Given the description of an element on the screen output the (x, y) to click on. 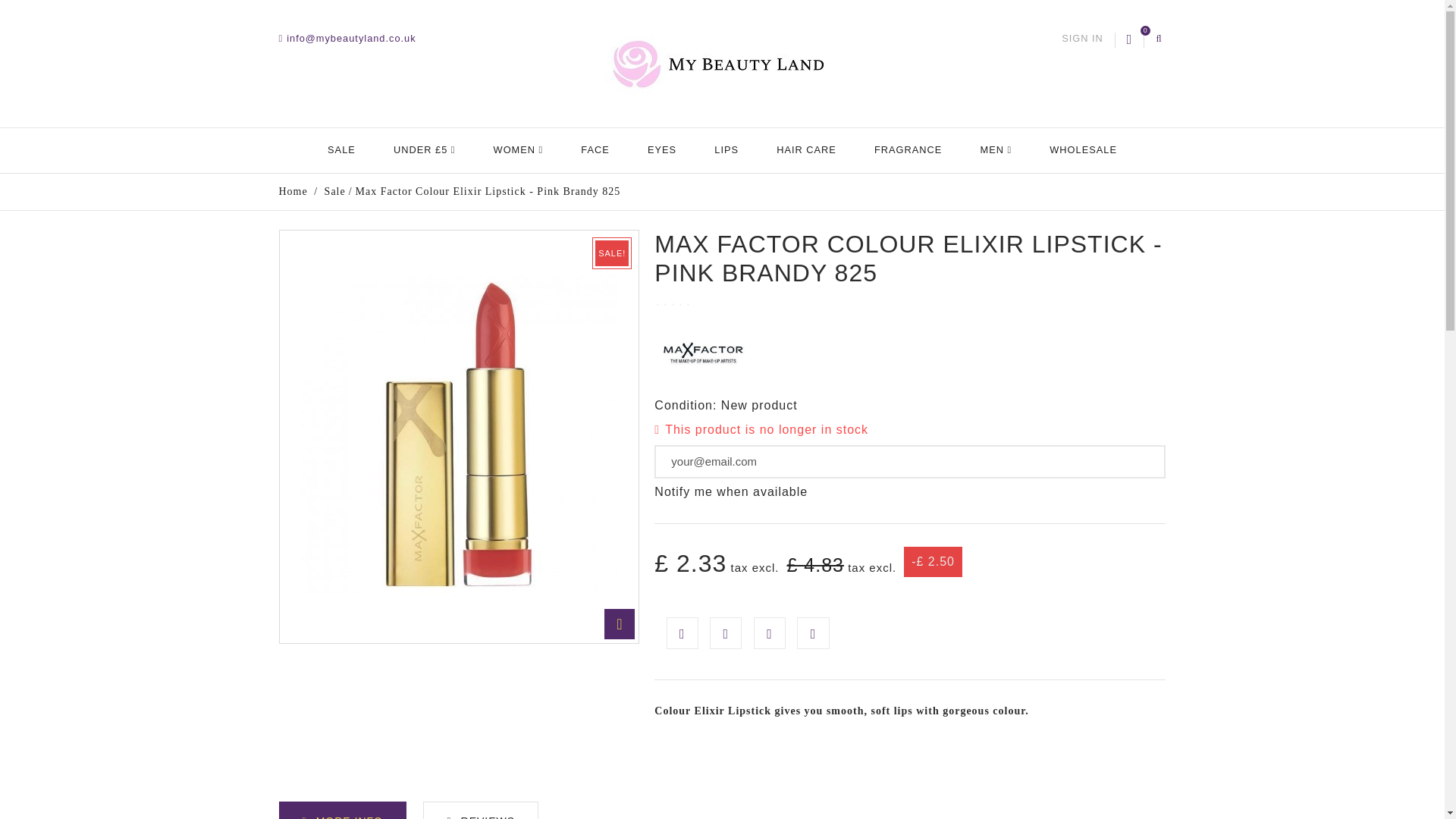
Women (518, 149)
Sale (341, 149)
LIPS (726, 149)
FRAGRANCE (908, 149)
Notify me when available (730, 491)
Sale (335, 191)
SIGN IN (1082, 38)
WHOLESALE (1082, 149)
Contact our expert support team! (347, 38)
MEN (995, 149)
